Given the description of an element on the screen output the (x, y) to click on. 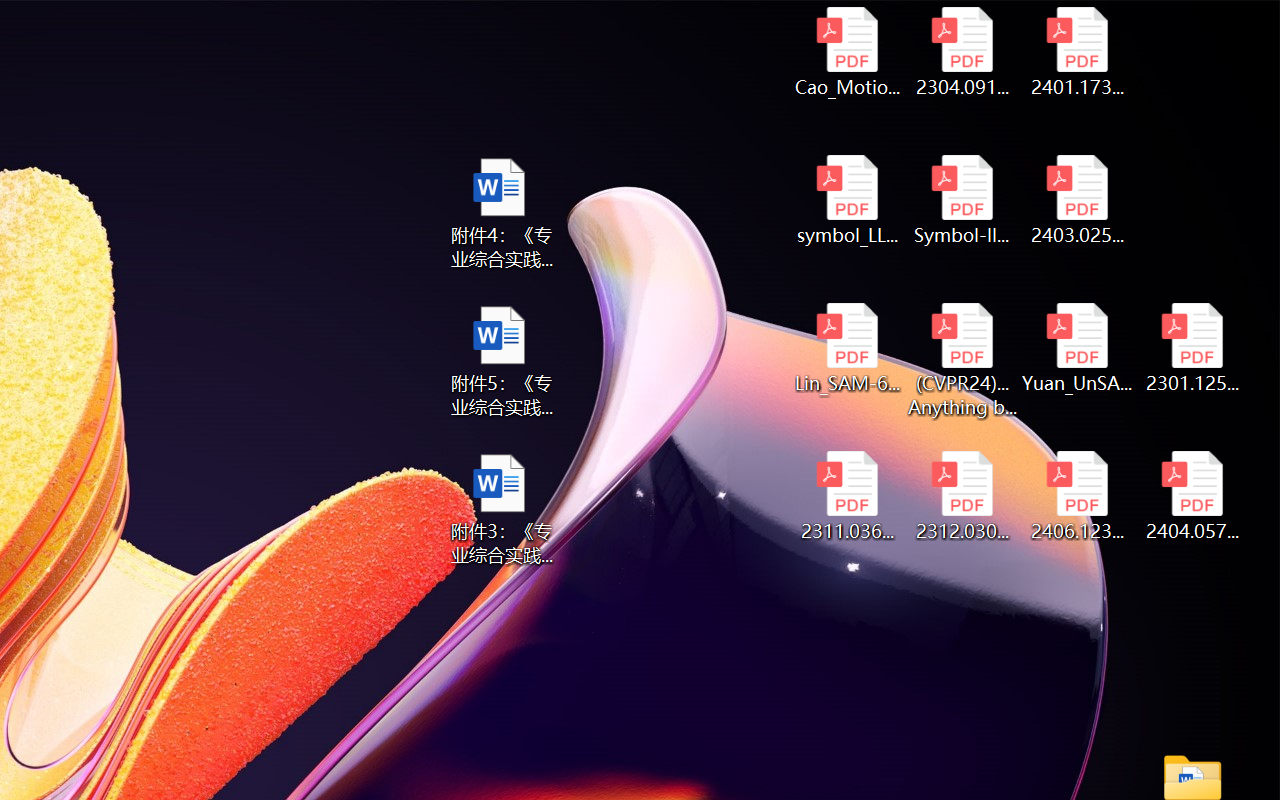
Symbol-llm-v2.pdf (962, 200)
2406.12373v2.pdf (1077, 496)
(CVPR24)Matching Anything by Segmenting Anything.pdf (962, 360)
2312.03032v2.pdf (962, 496)
2311.03658v2.pdf (846, 496)
2401.17399v1.pdf (1077, 52)
2403.02502v1.pdf (1077, 200)
2304.09121v3.pdf (962, 52)
symbol_LLM.pdf (846, 200)
2404.05719v1.pdf (1192, 496)
